Given the description of an element on the screen output the (x, y) to click on. 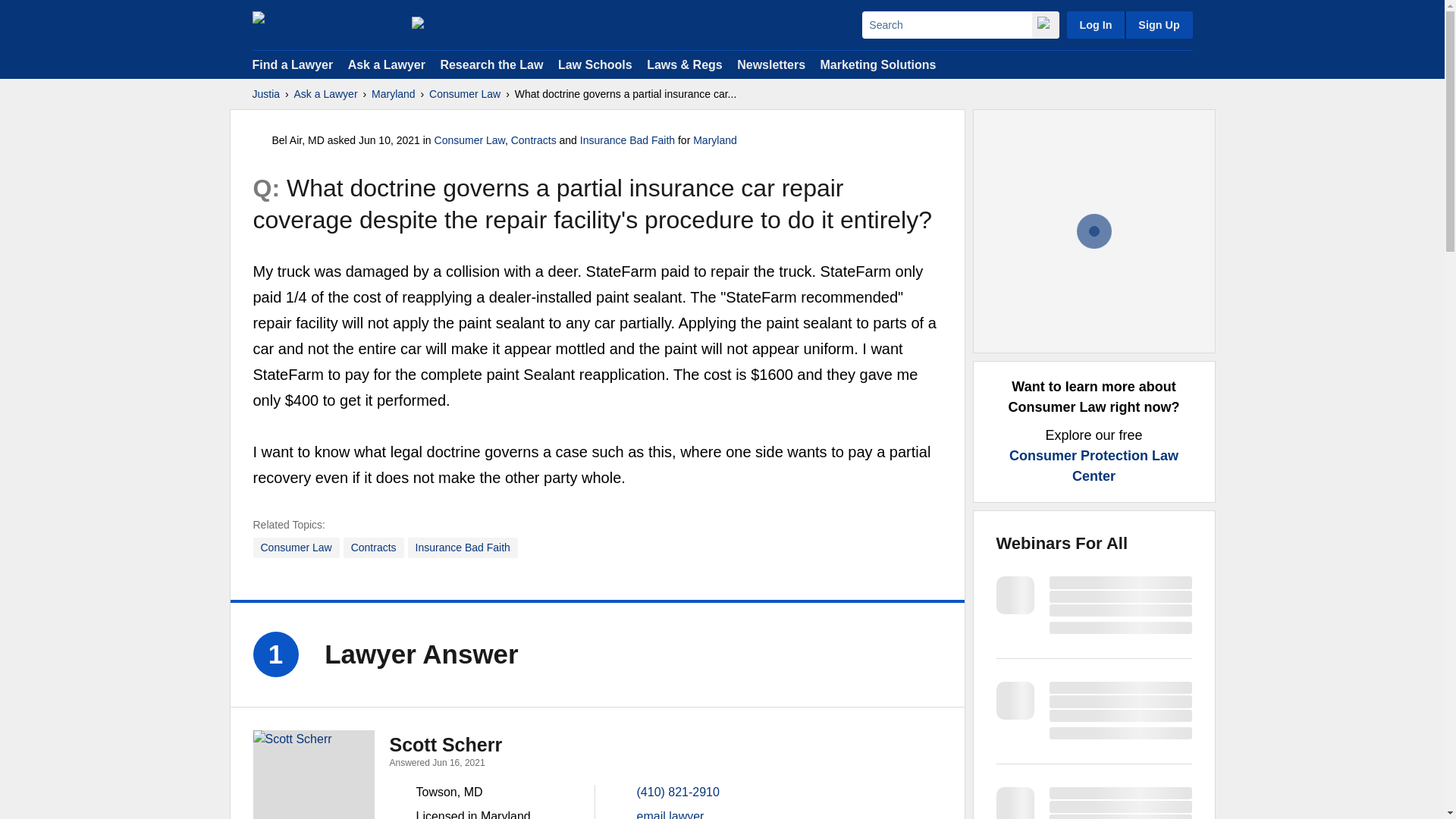
Consumer Law (469, 140)
Contracts (373, 547)
Log In (1094, 24)
Newsletters (770, 64)
Contracts (533, 140)
Ask a Lawyer (388, 64)
Consumer Law (464, 93)
Marketing Solutions (877, 64)
Maryland (714, 140)
Maryland (392, 93)
